Given the description of an element on the screen output the (x, y) to click on. 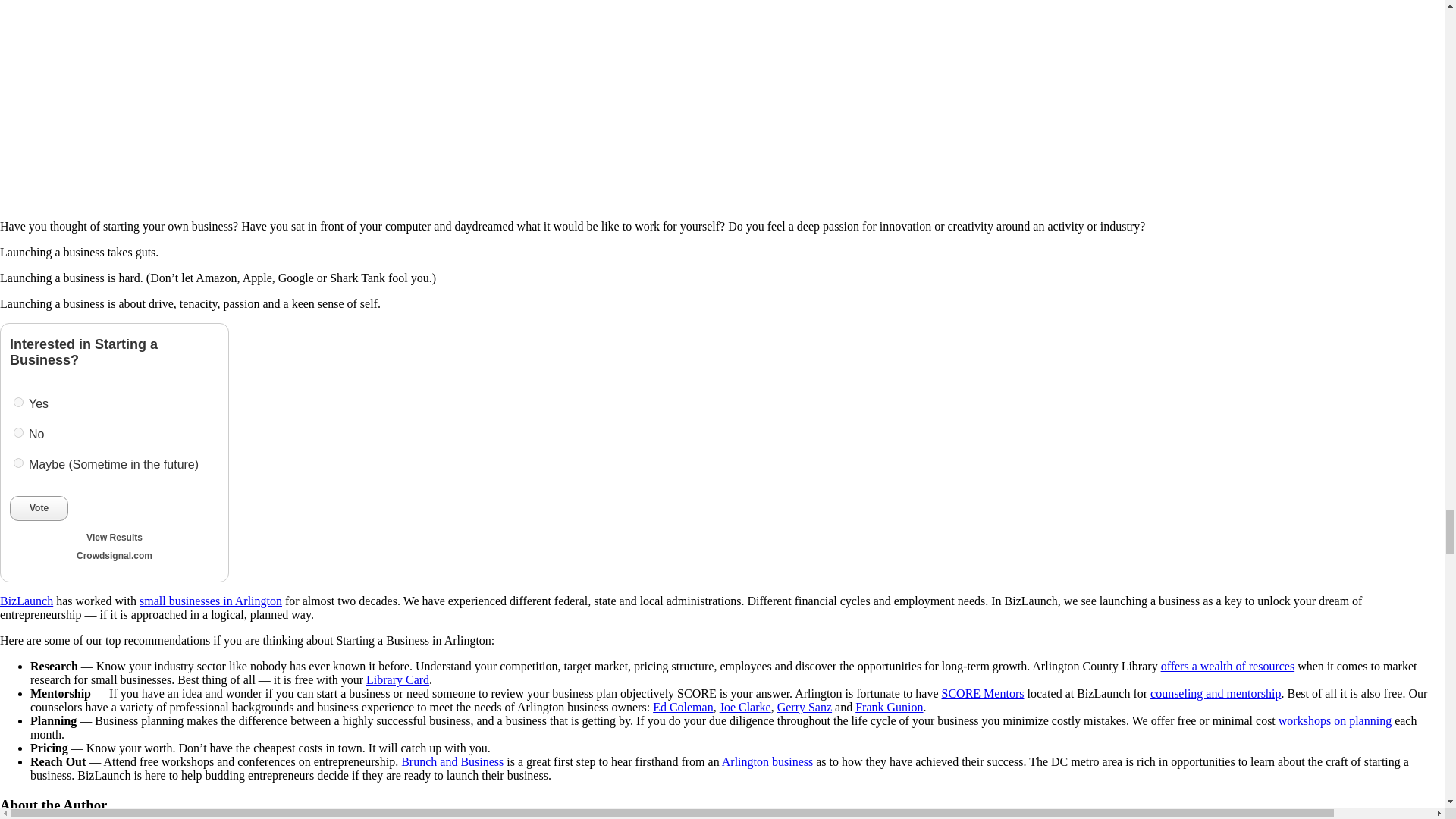
45069186 (18, 462)
45069184 (18, 402)
45069185 (18, 432)
